Given the description of an element on the screen output the (x, y) to click on. 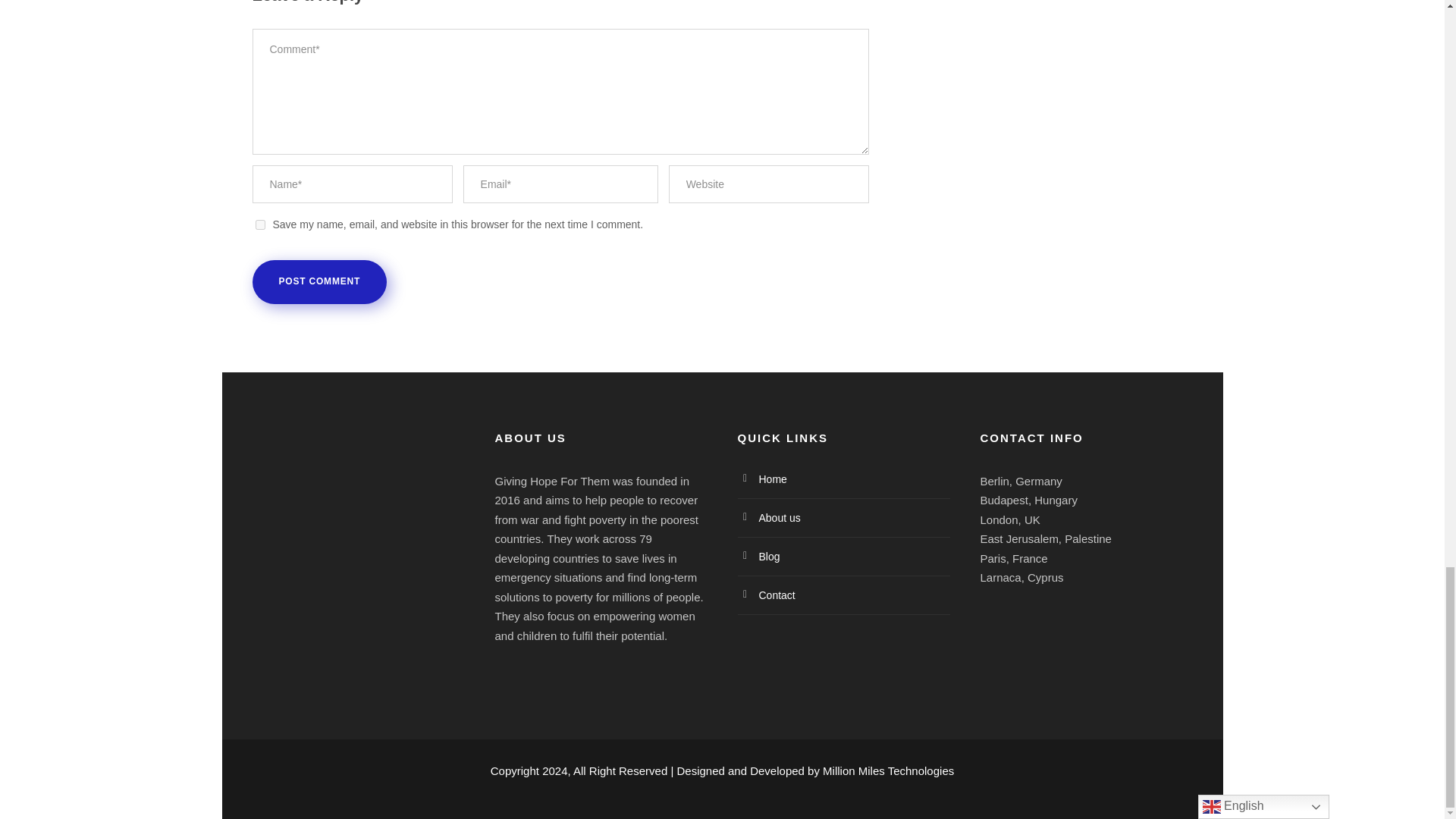
yes (259, 225)
Post Comment (319, 281)
Post Comment (319, 281)
